Given the description of an element on the screen output the (x, y) to click on. 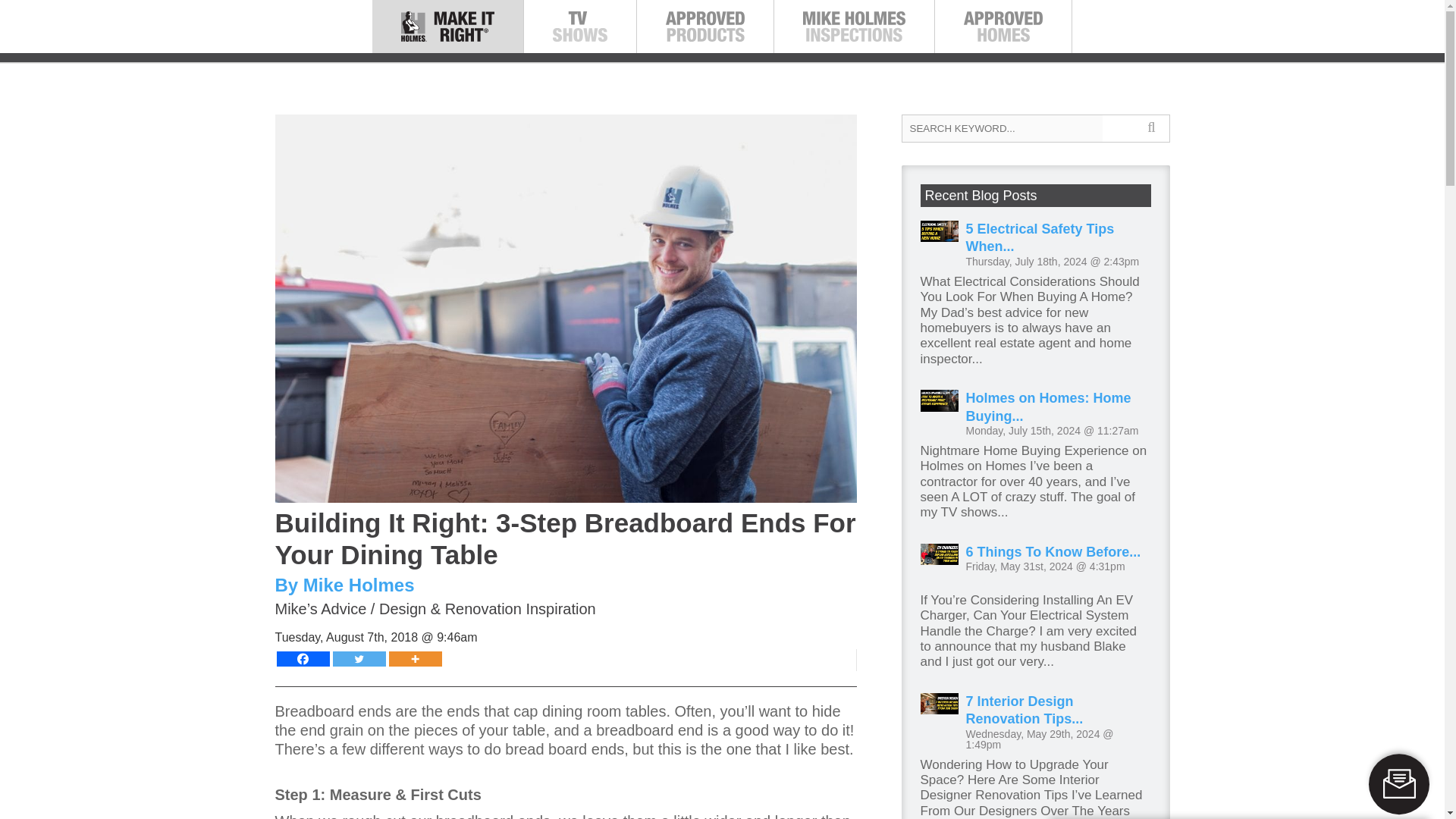
MIKE HOLMES (497, 42)
More (414, 658)
Twitter (358, 658)
HOME (400, 42)
Facebook (302, 658)
